Given the description of an element on the screen output the (x, y) to click on. 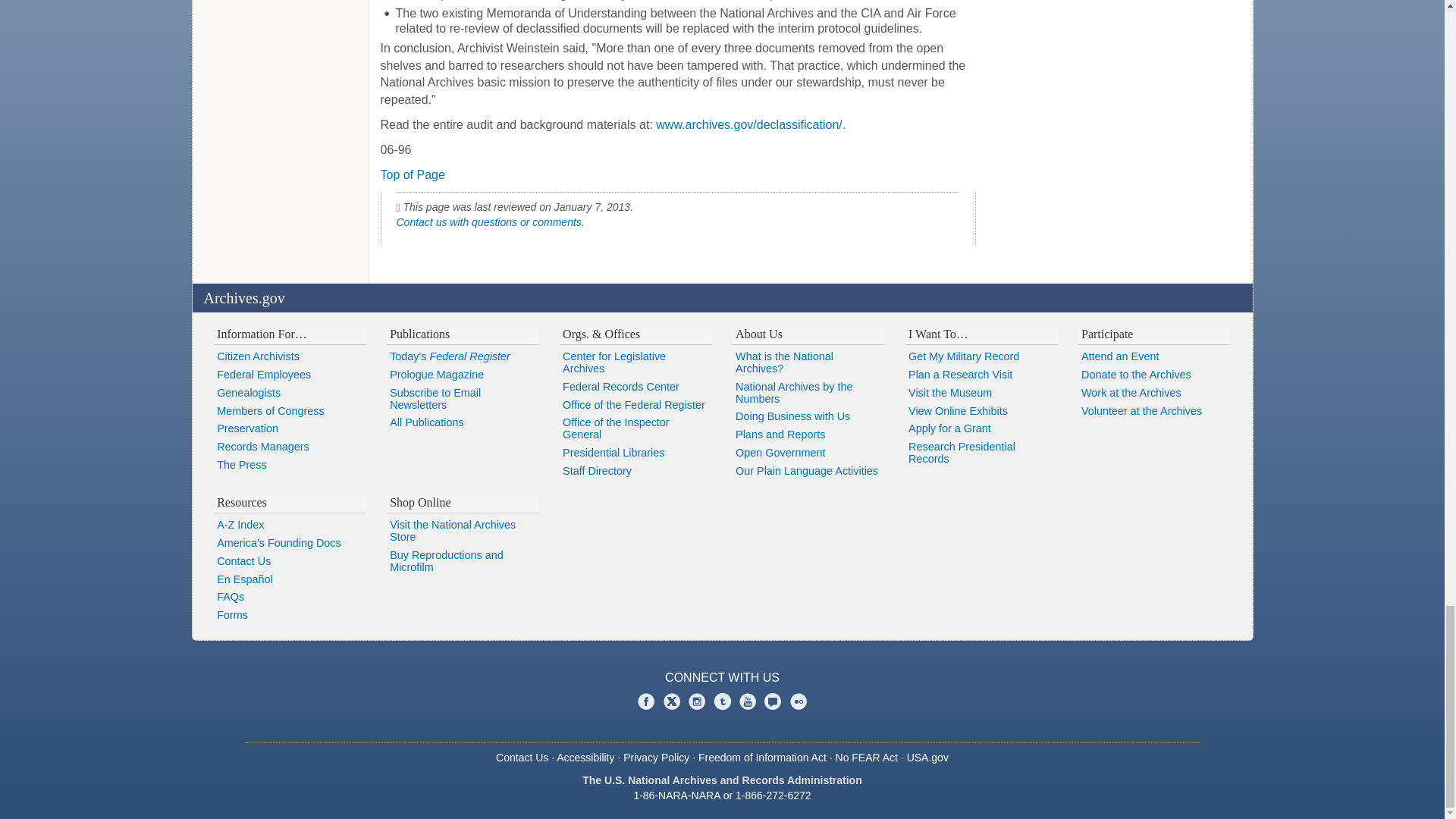
Citizen Archivists (290, 357)
Contact us with questions or comments (488, 222)
Federal Employees (290, 375)
Genealogists (290, 393)
Top of Page (412, 174)
